Given the description of an element on the screen output the (x, y) to click on. 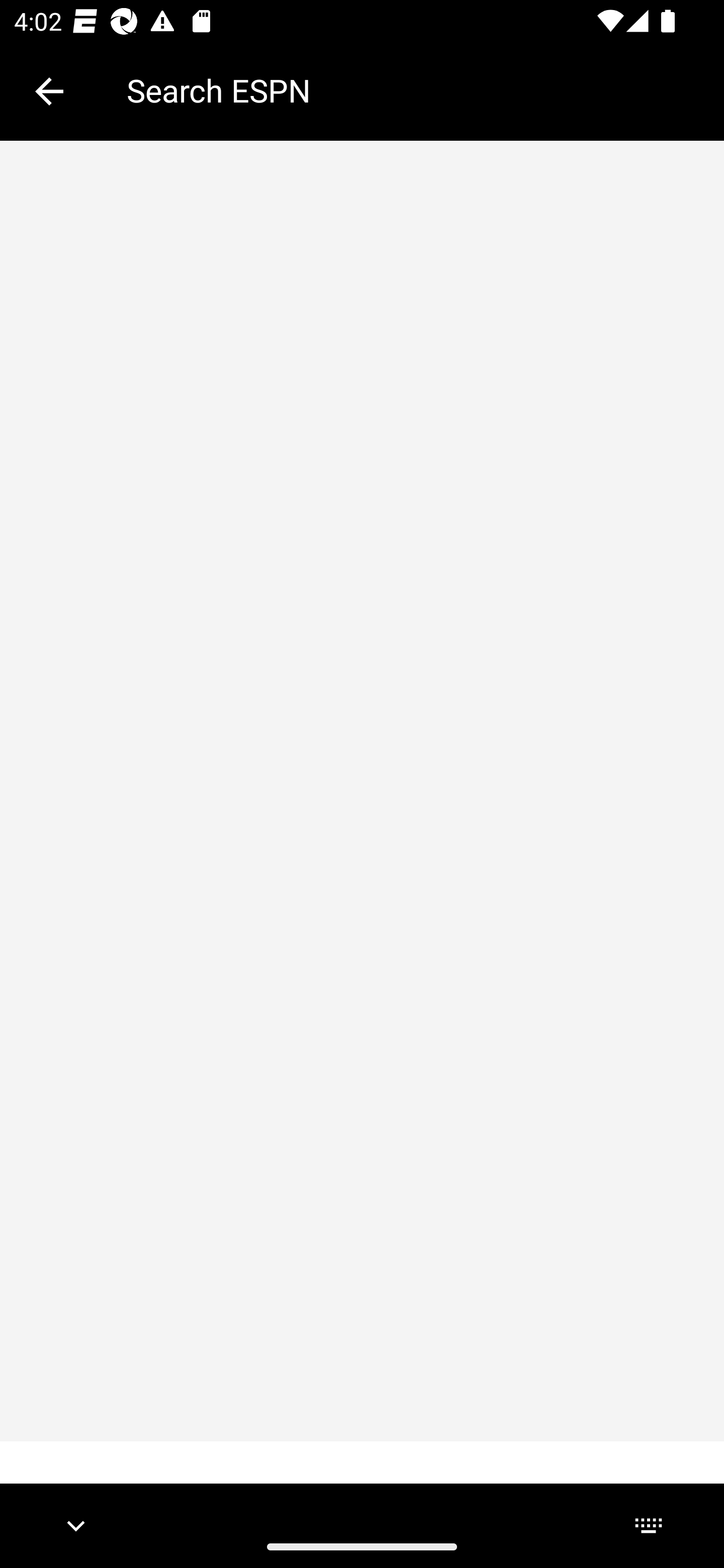
Collapse (49, 91)
Search ESPN (411, 90)
